Given the description of an element on the screen output the (x, y) to click on. 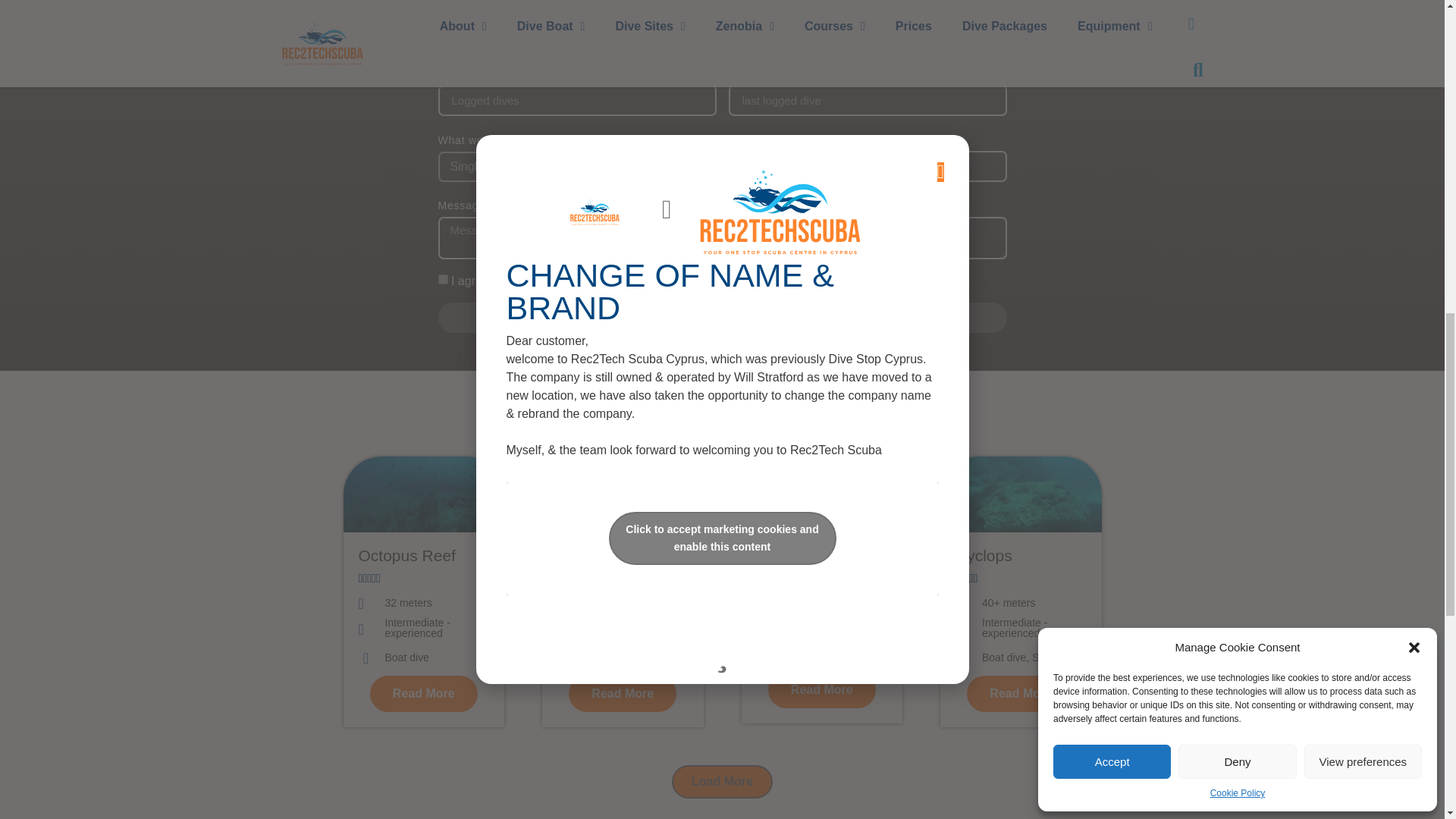
on (443, 279)
